Given the description of an element on the screen output the (x, y) to click on. 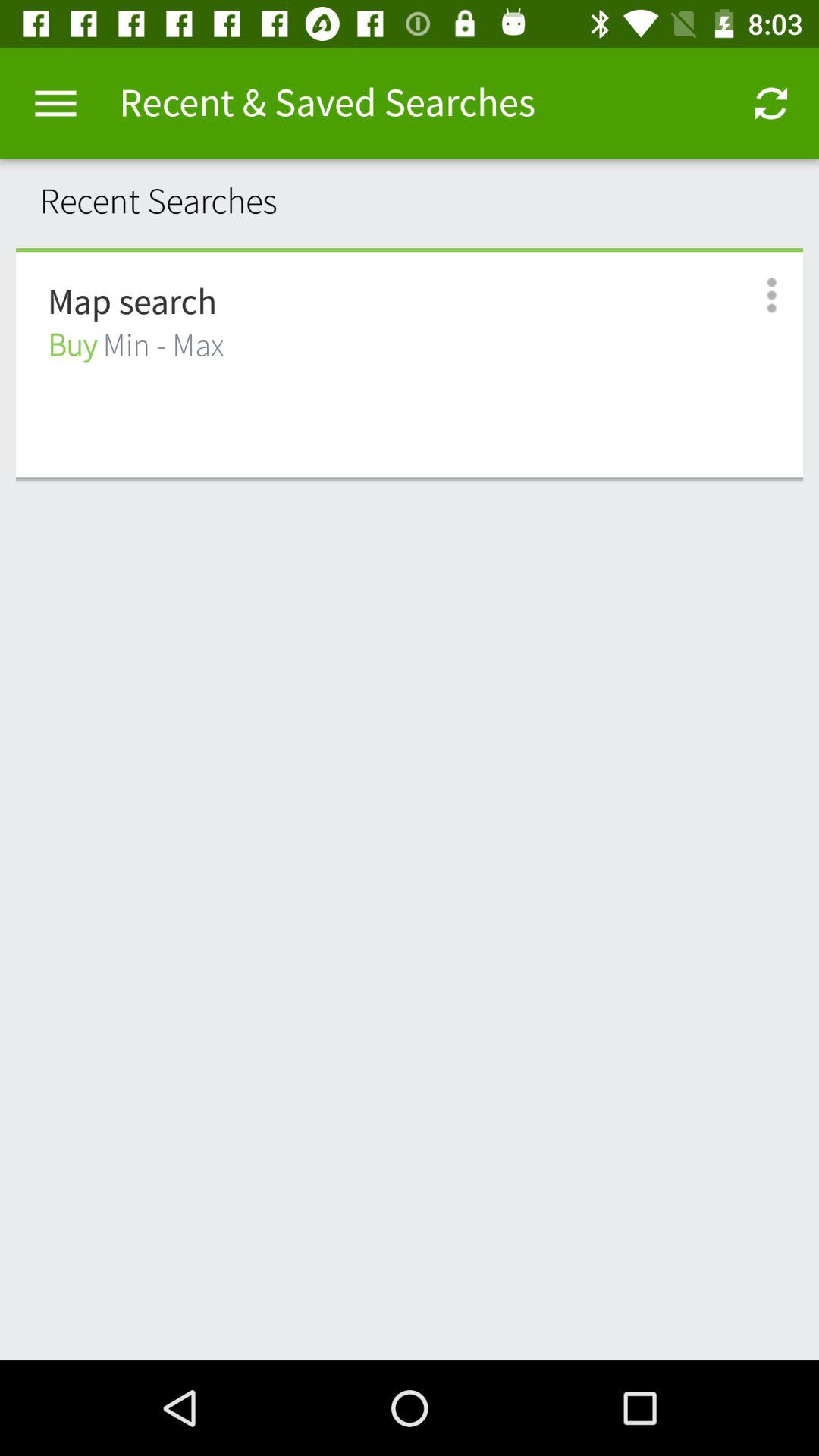
open more options (755, 295)
